Given the description of an element on the screen output the (x, y) to click on. 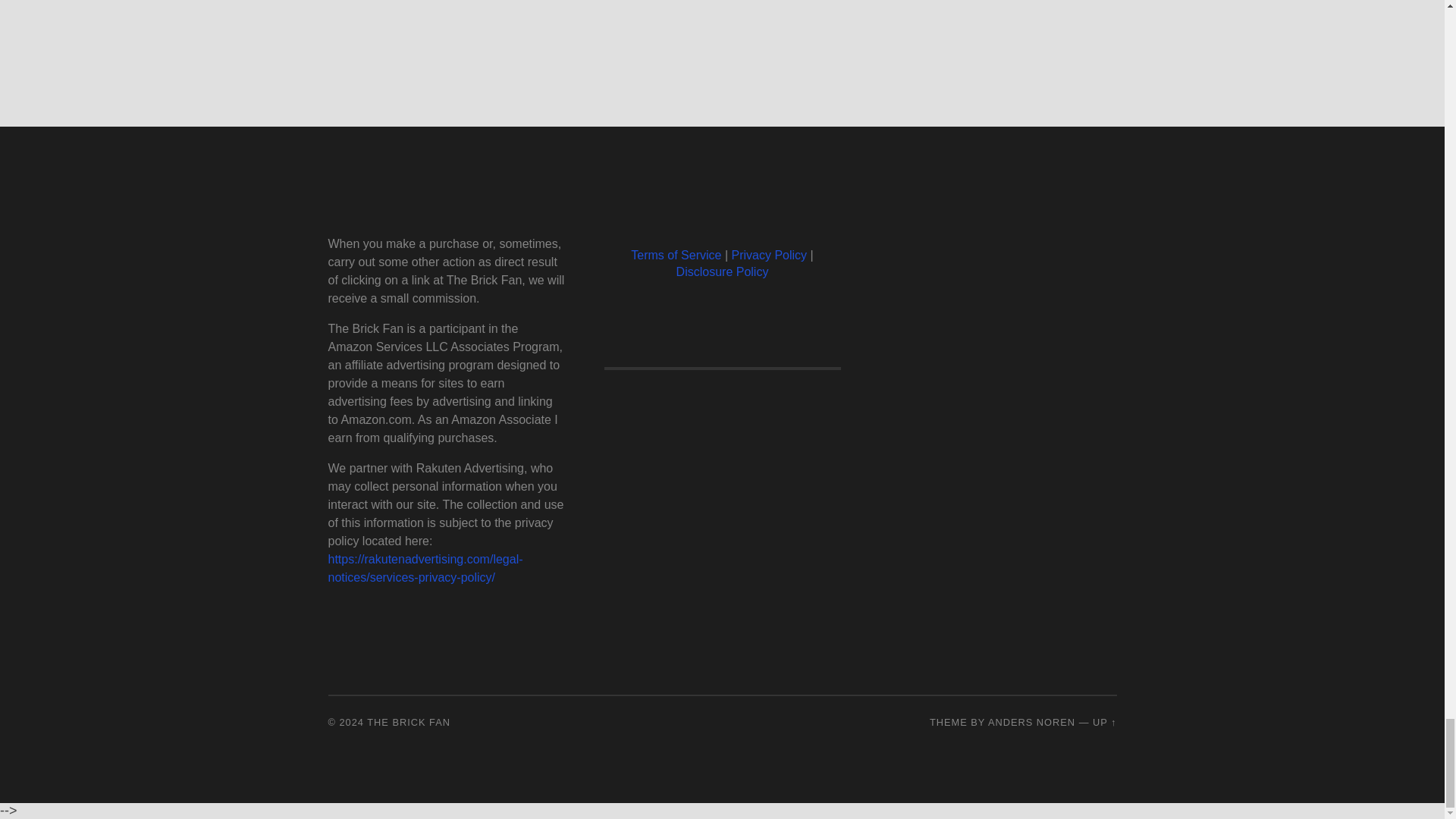
To the top (1104, 722)
